Given the description of an element on the screen output the (x, y) to click on. 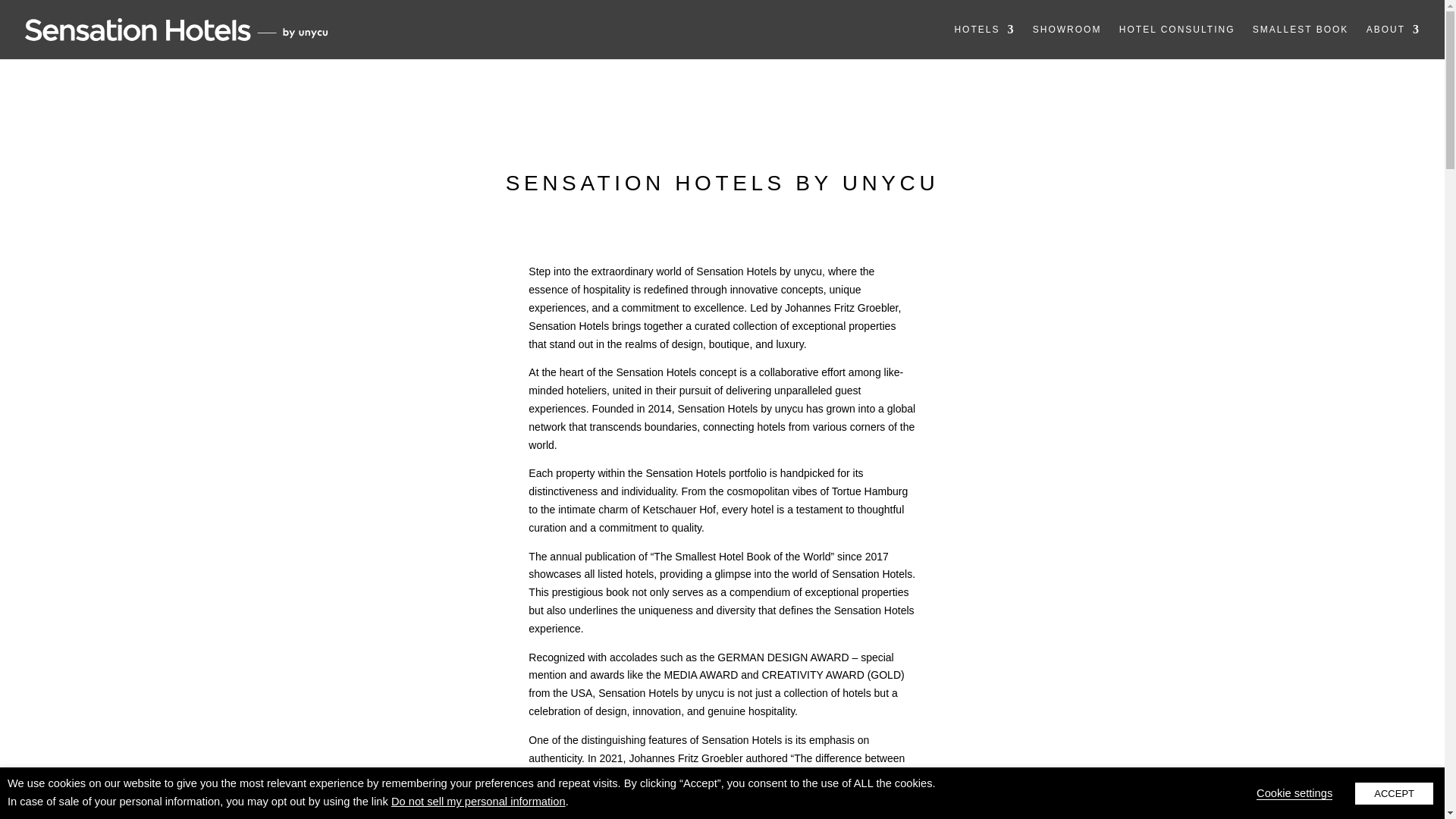
THE SMALLEST HOTEL BOOK OF THE WORLD (1300, 41)
SHOWROOM (1067, 41)
HOTELS (983, 41)
UNYCU HOTELS (983, 41)
ABOUT (1394, 41)
HOTEL CONSULTING (1176, 41)
SMALLEST BOOK (1300, 41)
